Given the description of an element on the screen output the (x, y) to click on. 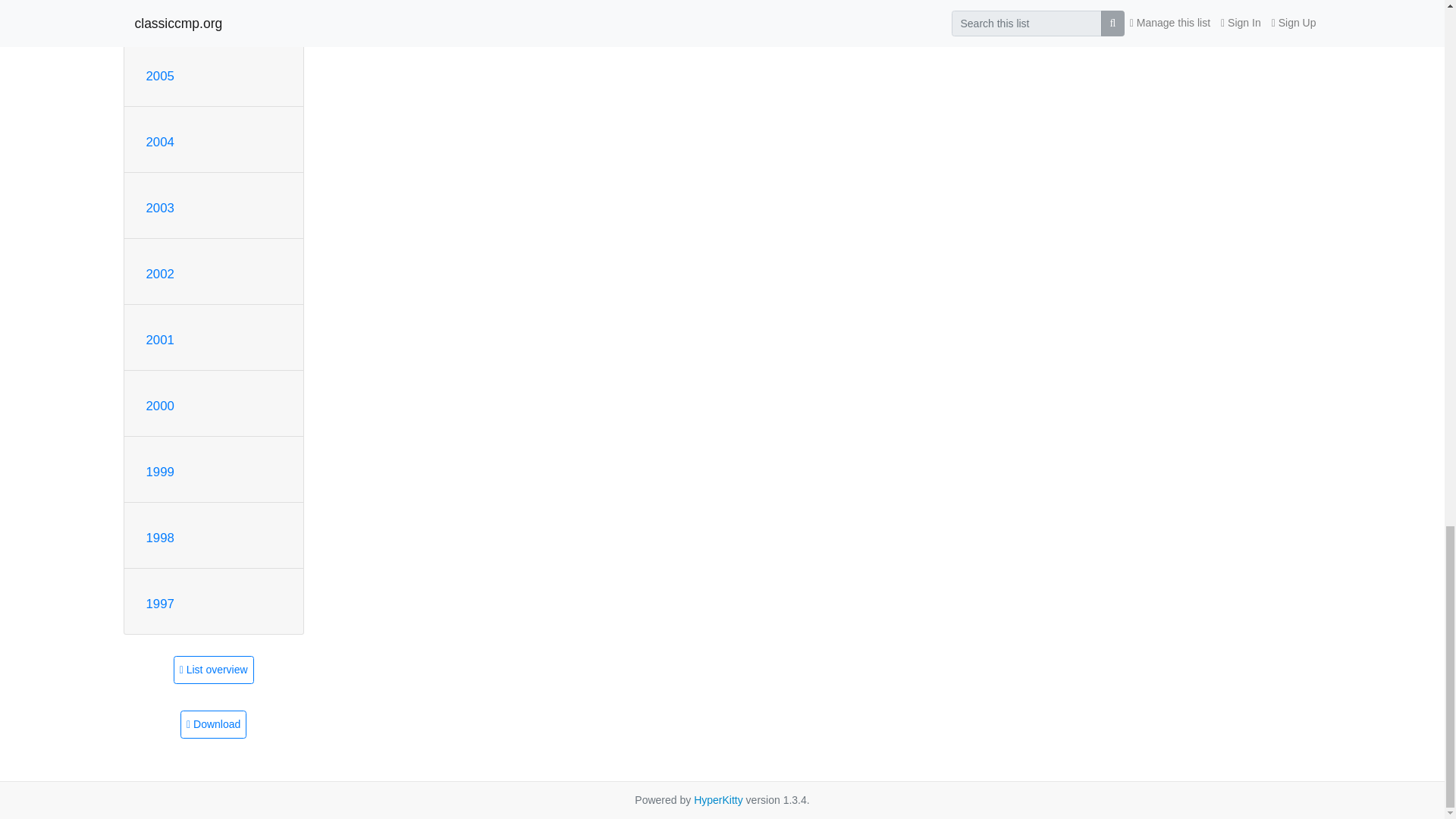
This message in gzipped mbox format (213, 724)
